Given the description of an element on the screen output the (x, y) to click on. 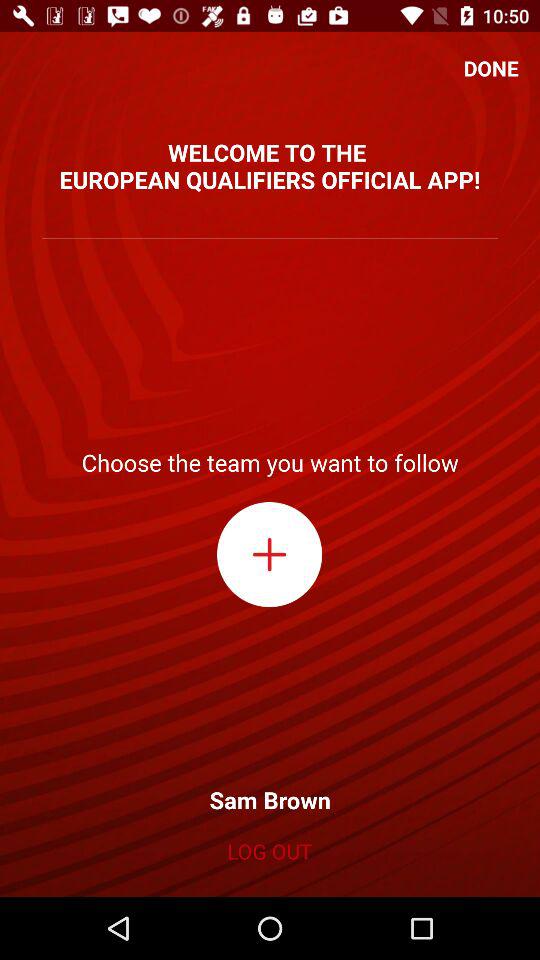
tap the done (491, 68)
